Given the description of an element on the screen output the (x, y) to click on. 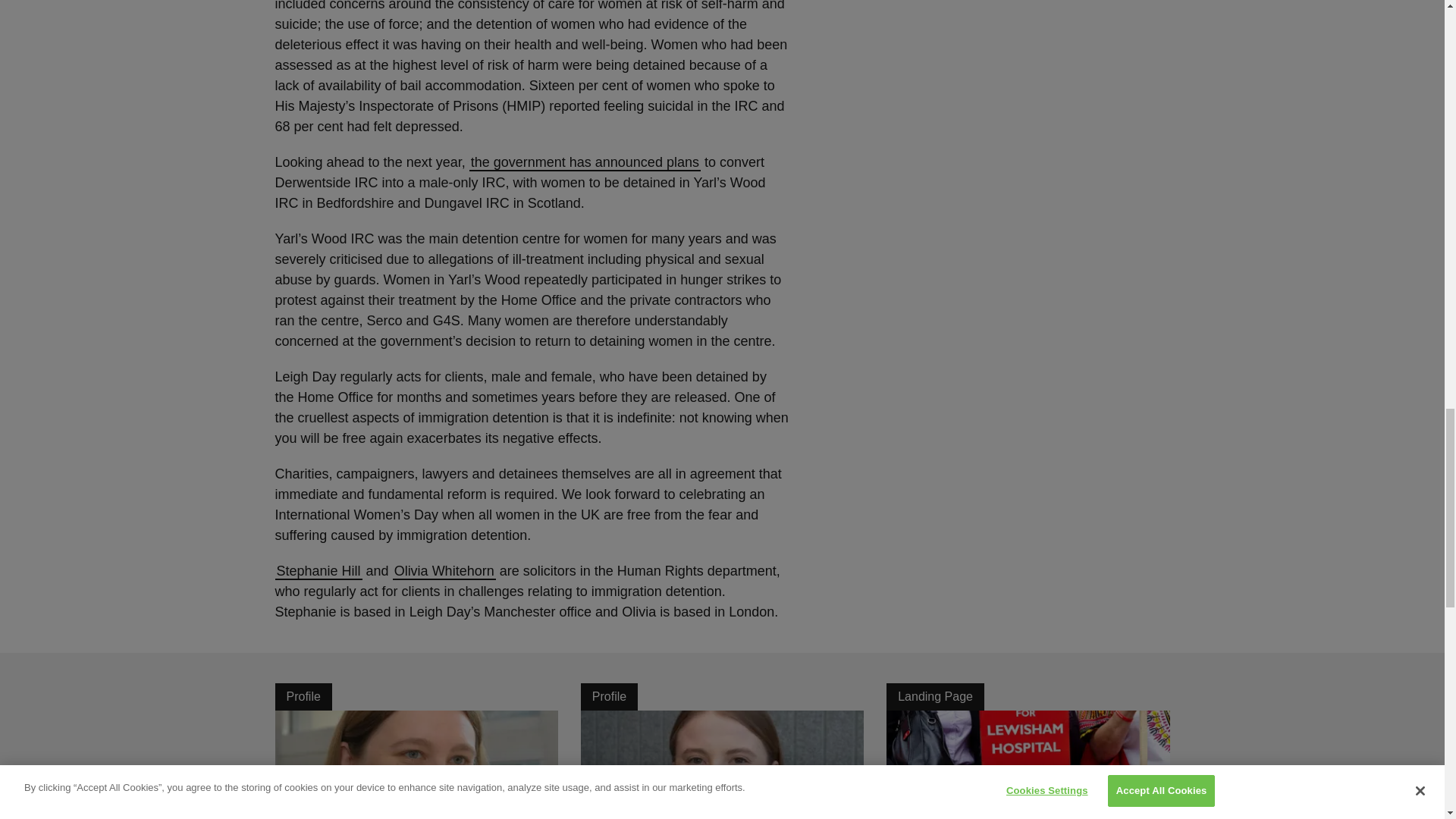
Derwentside removals factsheet (584, 162)
Olivia Whitehorn profile (444, 571)
Stephanie Hill profile (318, 571)
